Given the description of an element on the screen output the (x, y) to click on. 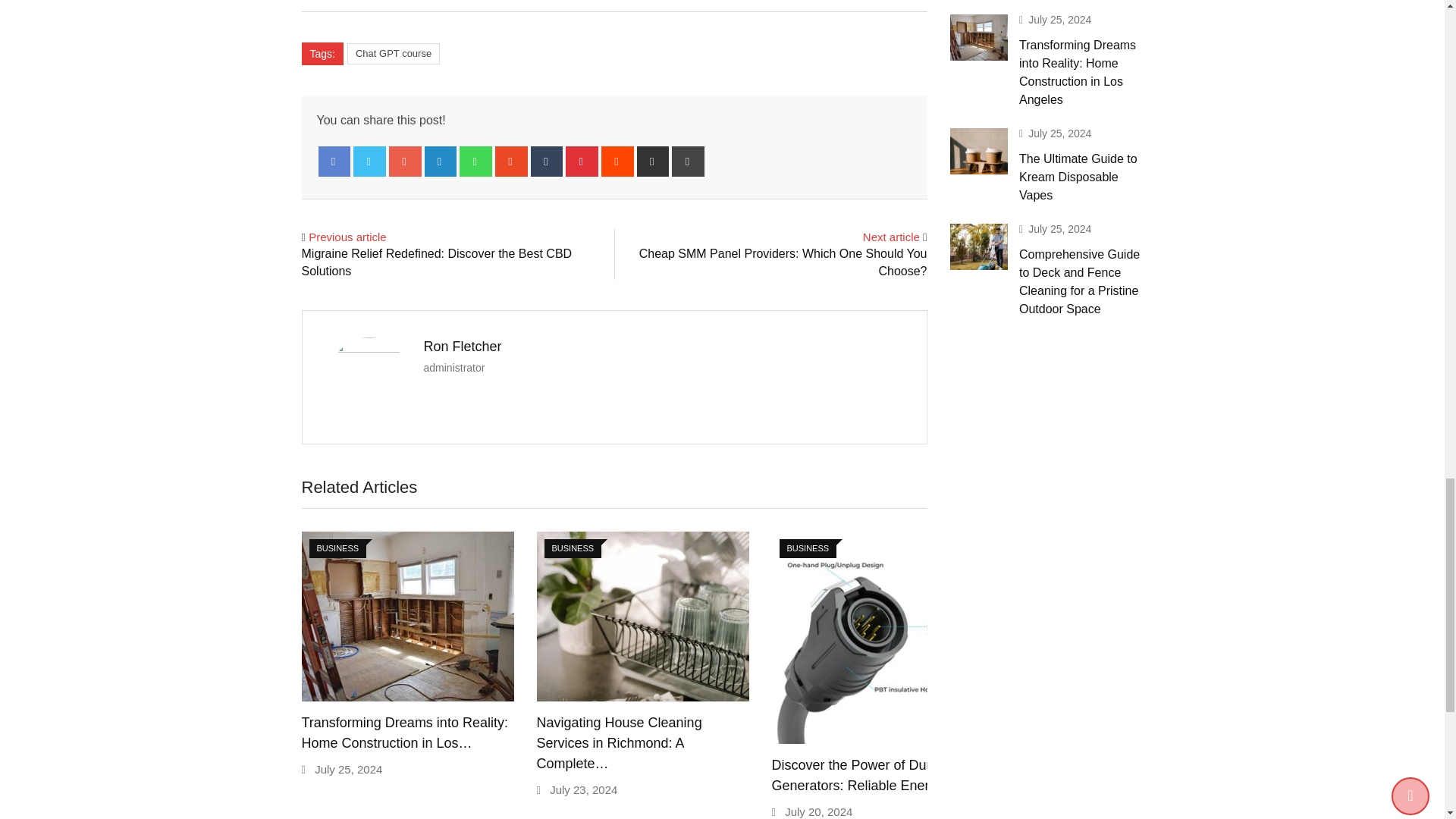
Posts by Ron Fletcher (461, 346)
Chat GPT course (393, 53)
